Given the description of an element on the screen output the (x, y) to click on. 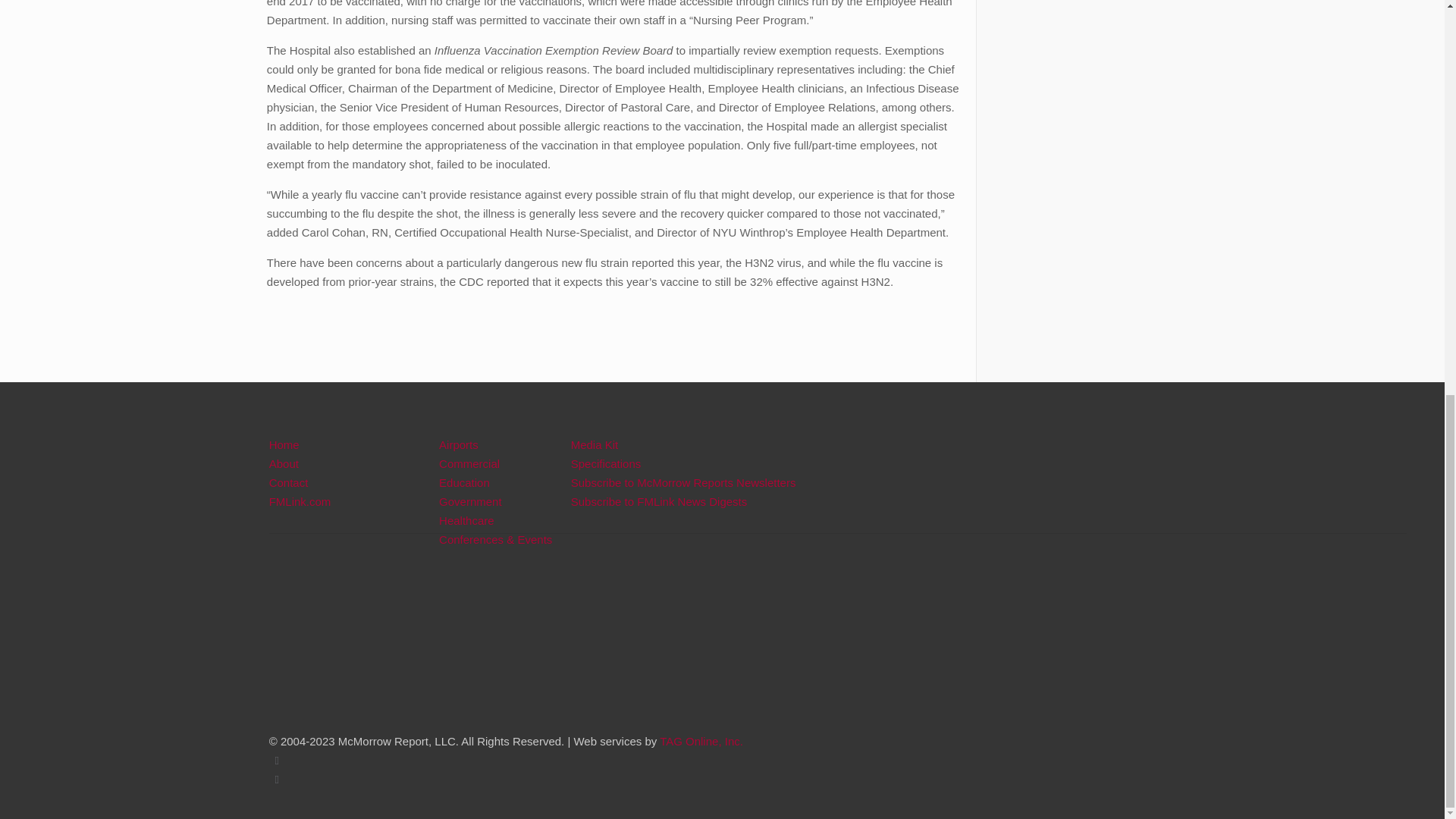
Airports (459, 444)
Contact (288, 481)
Specifications (606, 463)
Home (284, 444)
Commercial (469, 463)
Healthcare (467, 520)
Education (464, 481)
Subscribe to McMorrow Reports Newsletters (683, 481)
Twitter (277, 759)
FMLink.com (300, 501)
